Given the description of an element on the screen output the (x, y) to click on. 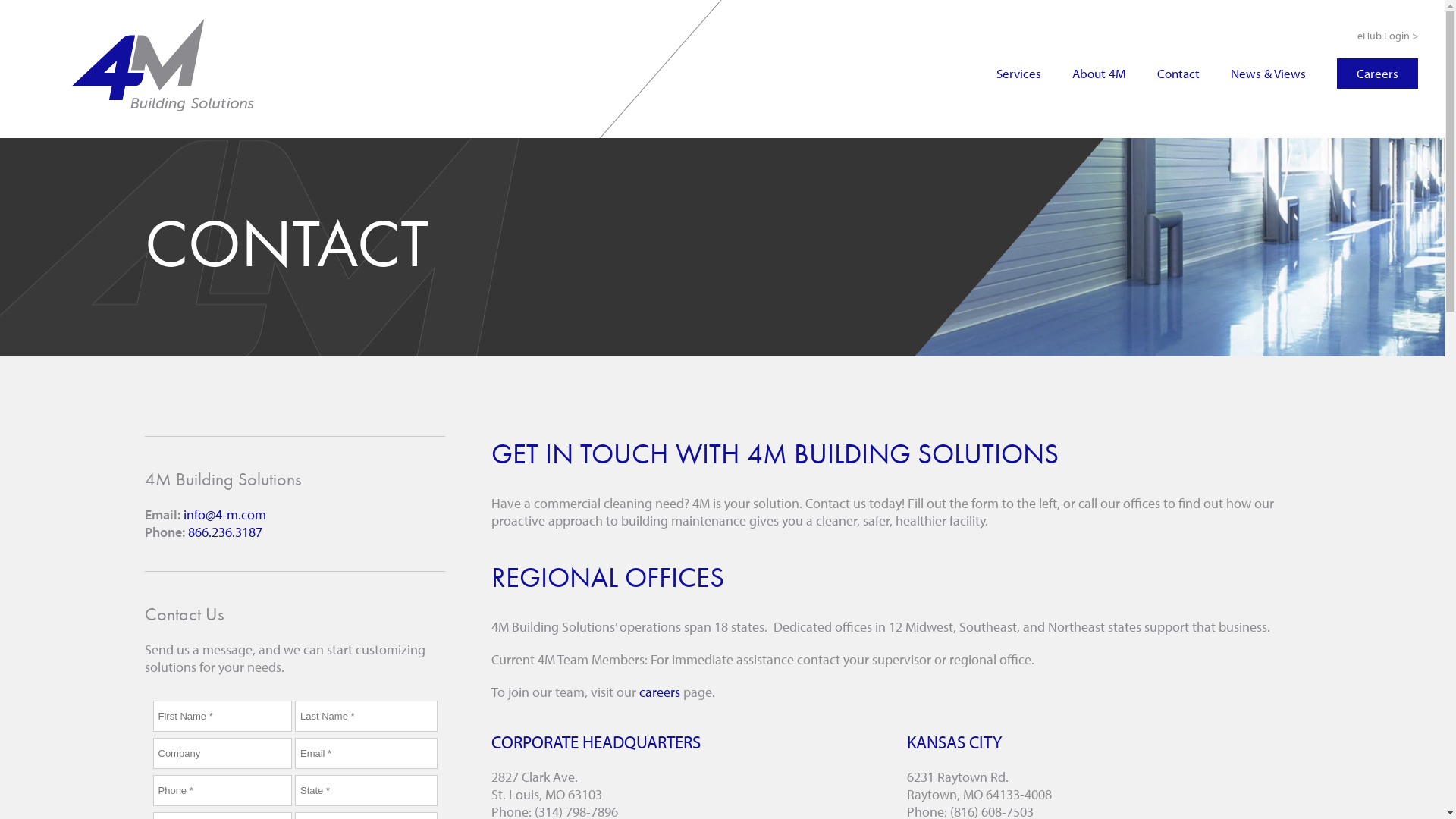
866.236.3187 Element type: text (225, 531)
Careers Element type: text (1377, 73)
info@4-m.com Element type: text (224, 514)
Services Element type: text (1018, 73)
Contact Element type: text (1178, 73)
eHub Login > Element type: text (1361, 35)
careers Element type: text (659, 691)
About 4M Element type: text (1099, 73)
News & Views Element type: text (1267, 73)
